Given the description of an element on the screen output the (x, y) to click on. 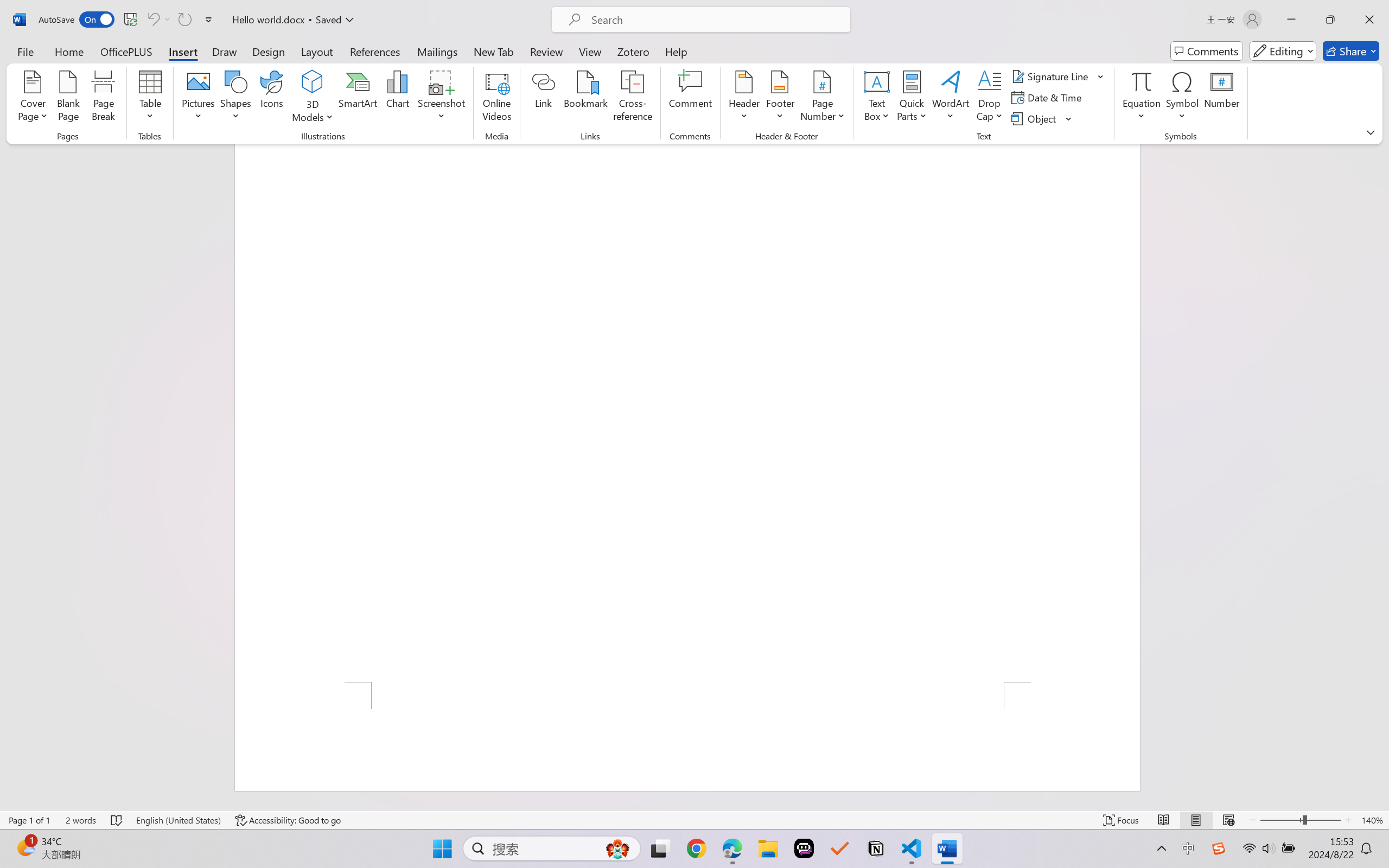
Web Layout (1228, 819)
Comments (1206, 50)
Zoom Out (1280, 819)
Read Mode (1163, 819)
References (375, 51)
Minimize (1291, 19)
OfficePLUS (126, 51)
Mailings (437, 51)
Restore Down (1330, 19)
